Given the description of an element on the screen output the (x, y) to click on. 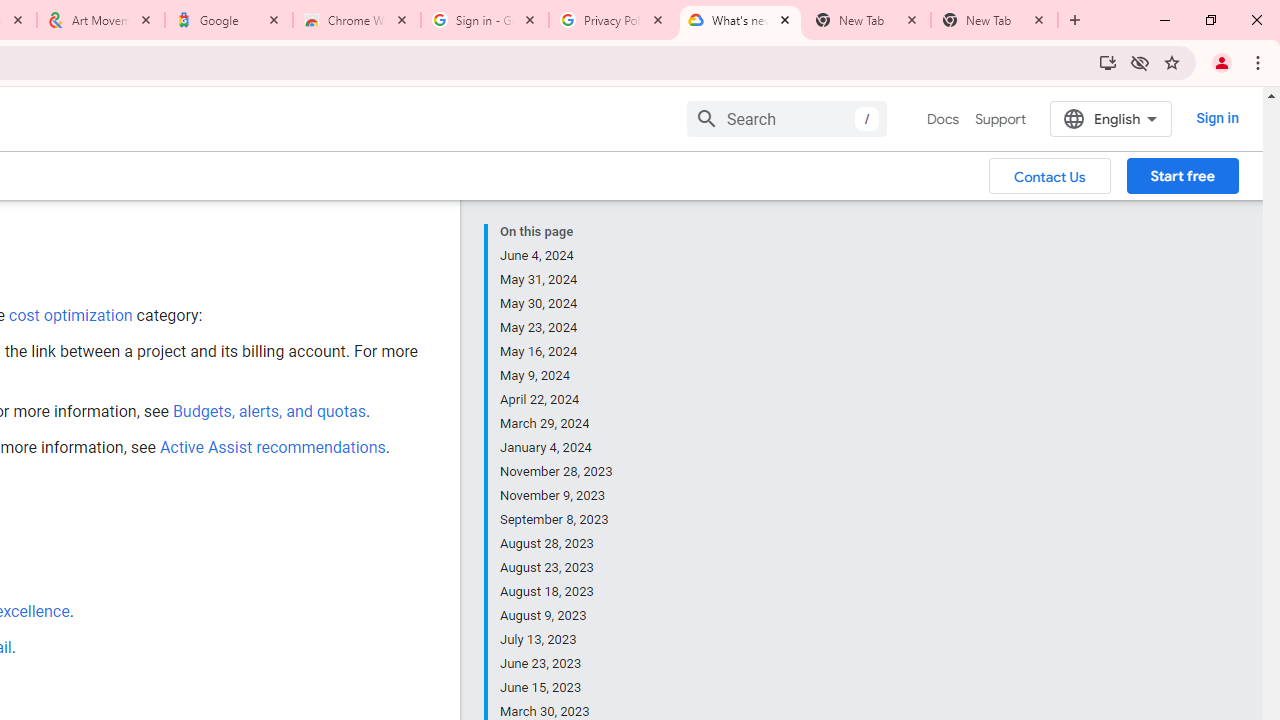
September 8, 2023 (557, 520)
May 16, 2024 (557, 351)
May 23, 2024 (557, 327)
Google (229, 20)
